Given the description of an element on the screen output the (x, y) to click on. 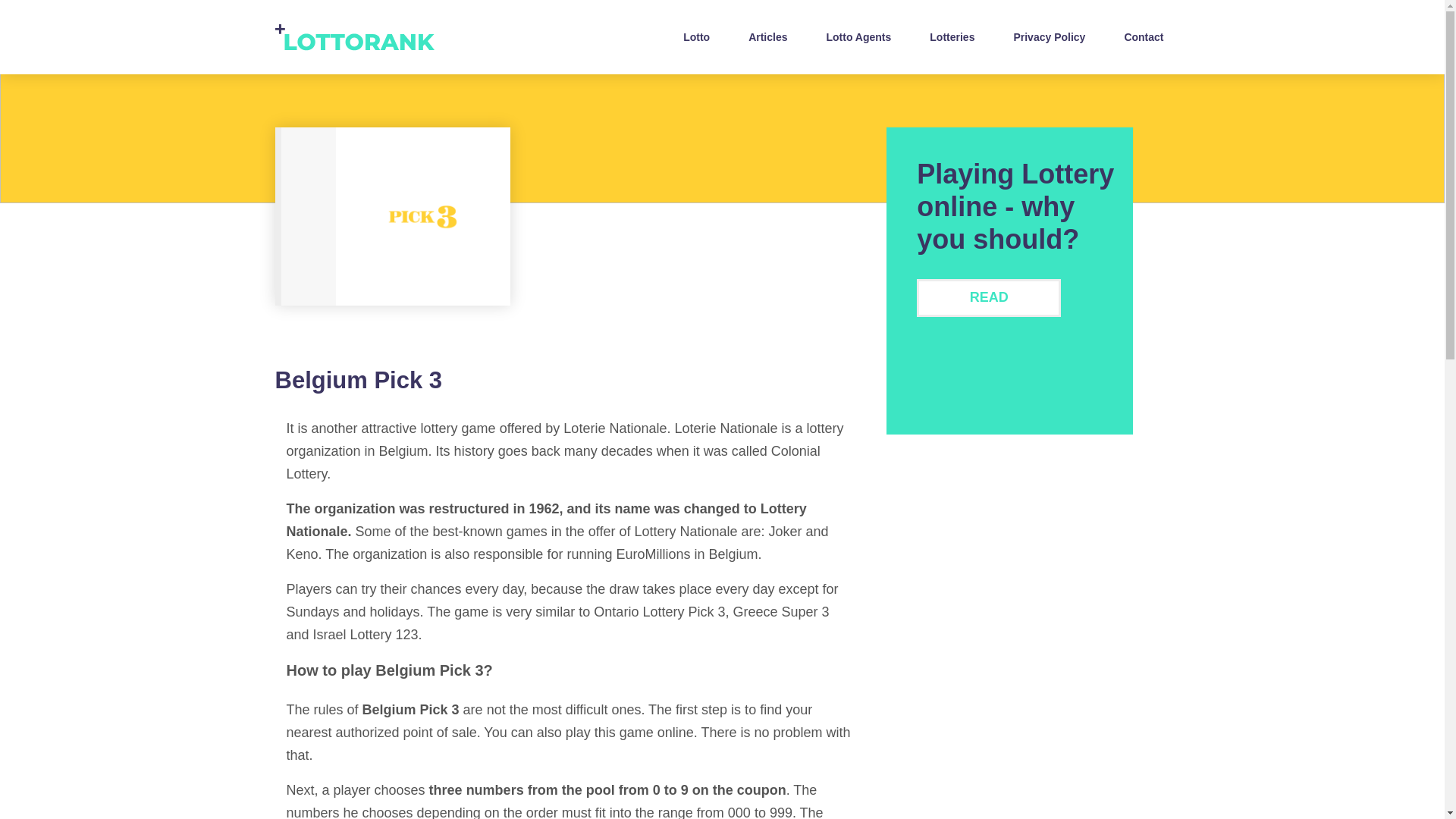
Lotteries (951, 36)
Lotto (696, 36)
READ (989, 297)
Privacy Policy (1048, 36)
Contact (1143, 36)
Lotto Agents (857, 36)
Articles (767, 36)
